Given the description of an element on the screen output the (x, y) to click on. 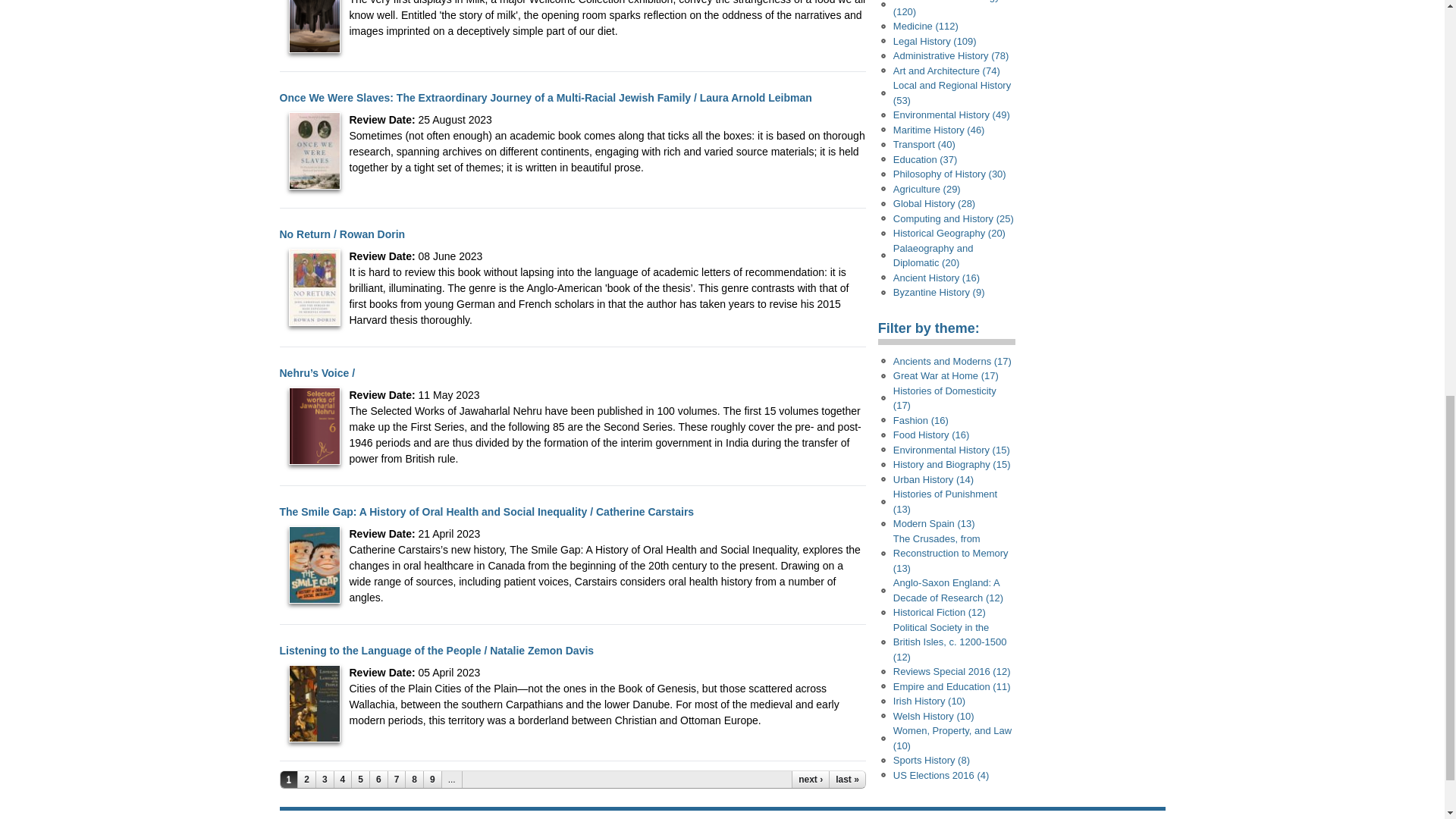
6 (378, 779)
9 (432, 779)
7 (397, 779)
4 (343, 779)
5 (360, 779)
2 (306, 779)
8 (414, 779)
3 (324, 779)
